Given the description of an element on the screen output the (x, y) to click on. 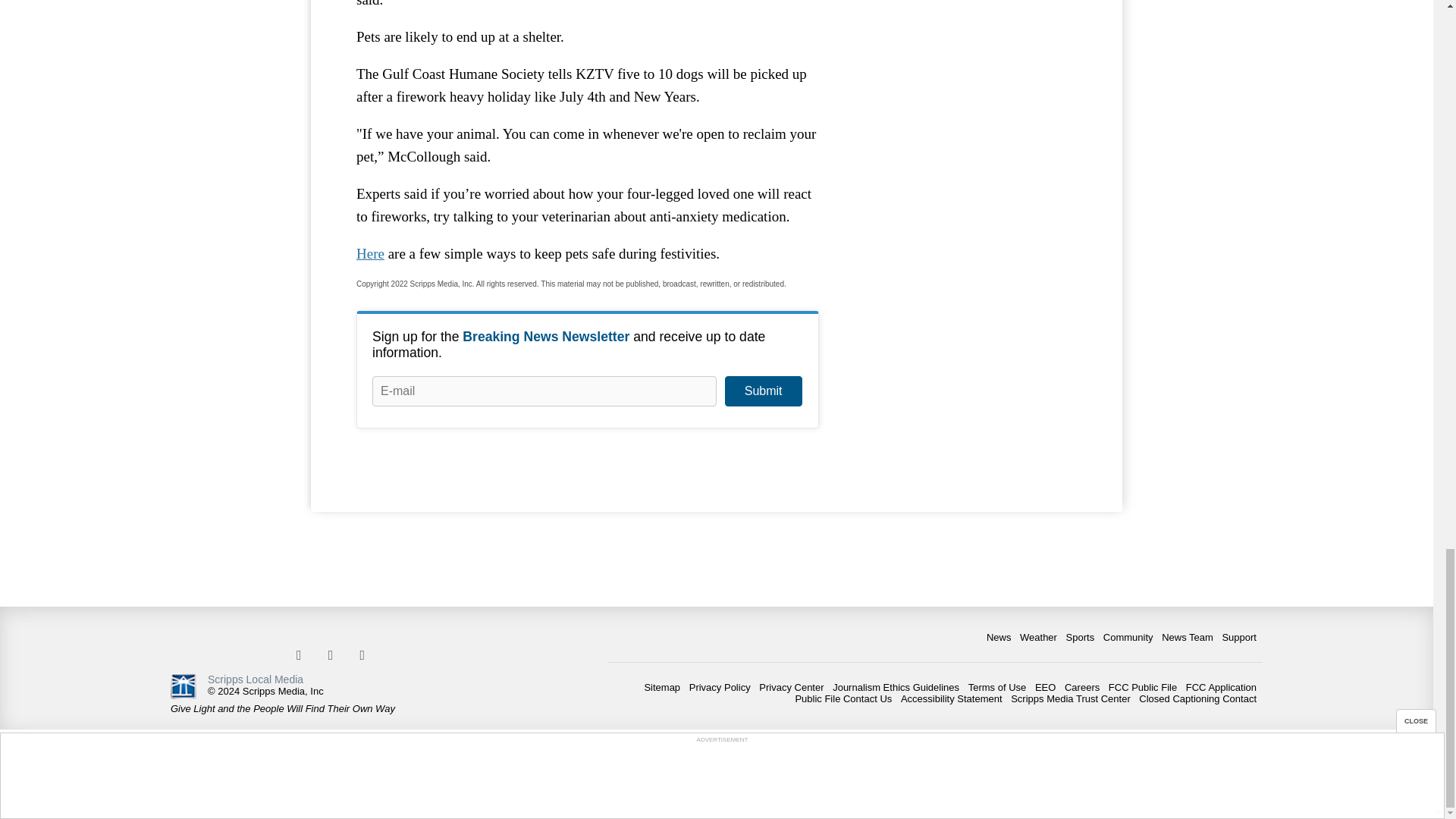
Submit (763, 390)
